Given the description of an element on the screen output the (x, y) to click on. 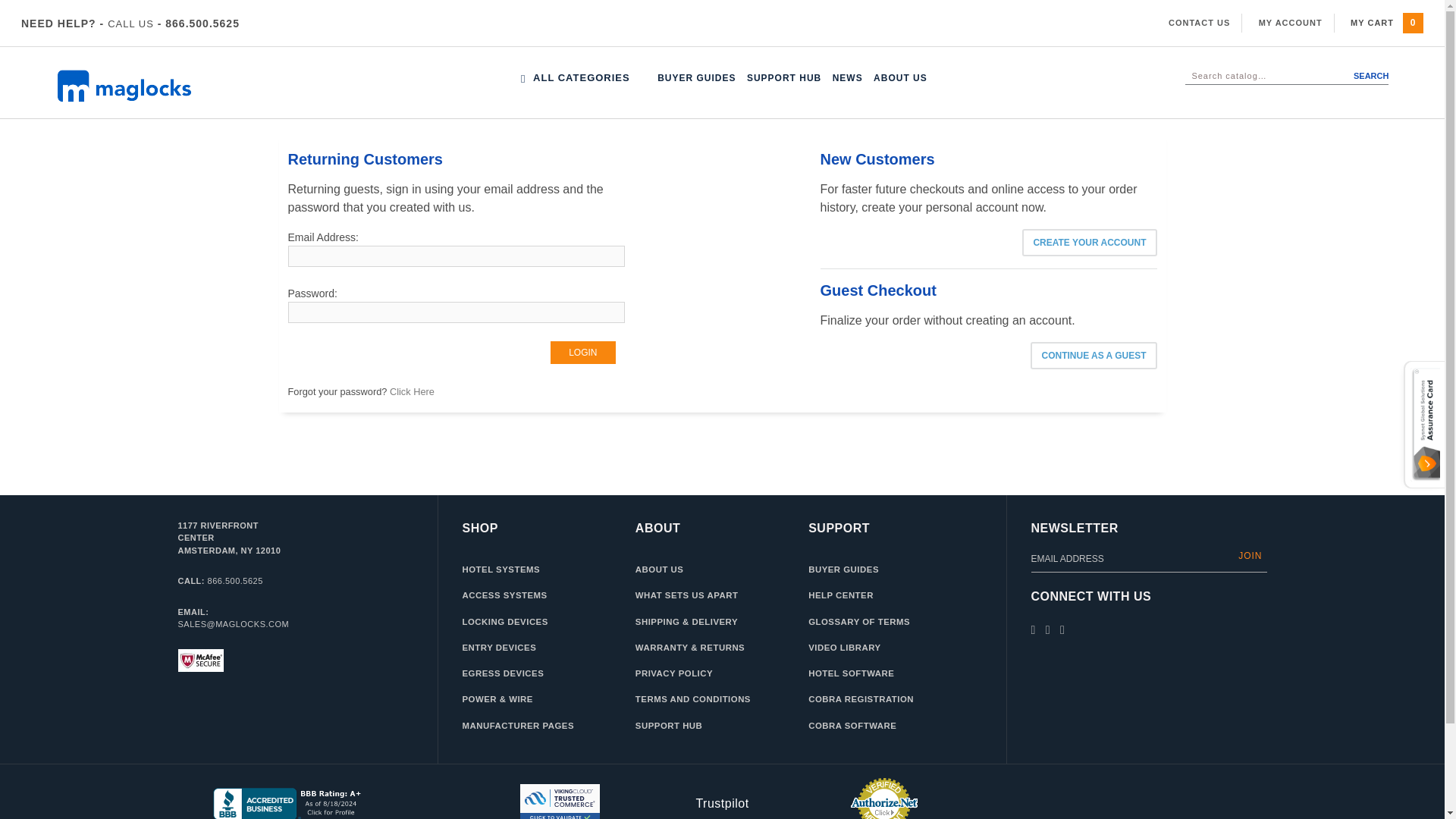
LOCKING DEVICES (41, 48)
maglocks (167, 85)
Contact Us (1199, 22)
My Account (1290, 22)
Join (1249, 555)
Search (1354, 76)
My Cart (1413, 23)
Login (582, 352)
